Given the description of an element on the screen output the (x, y) to click on. 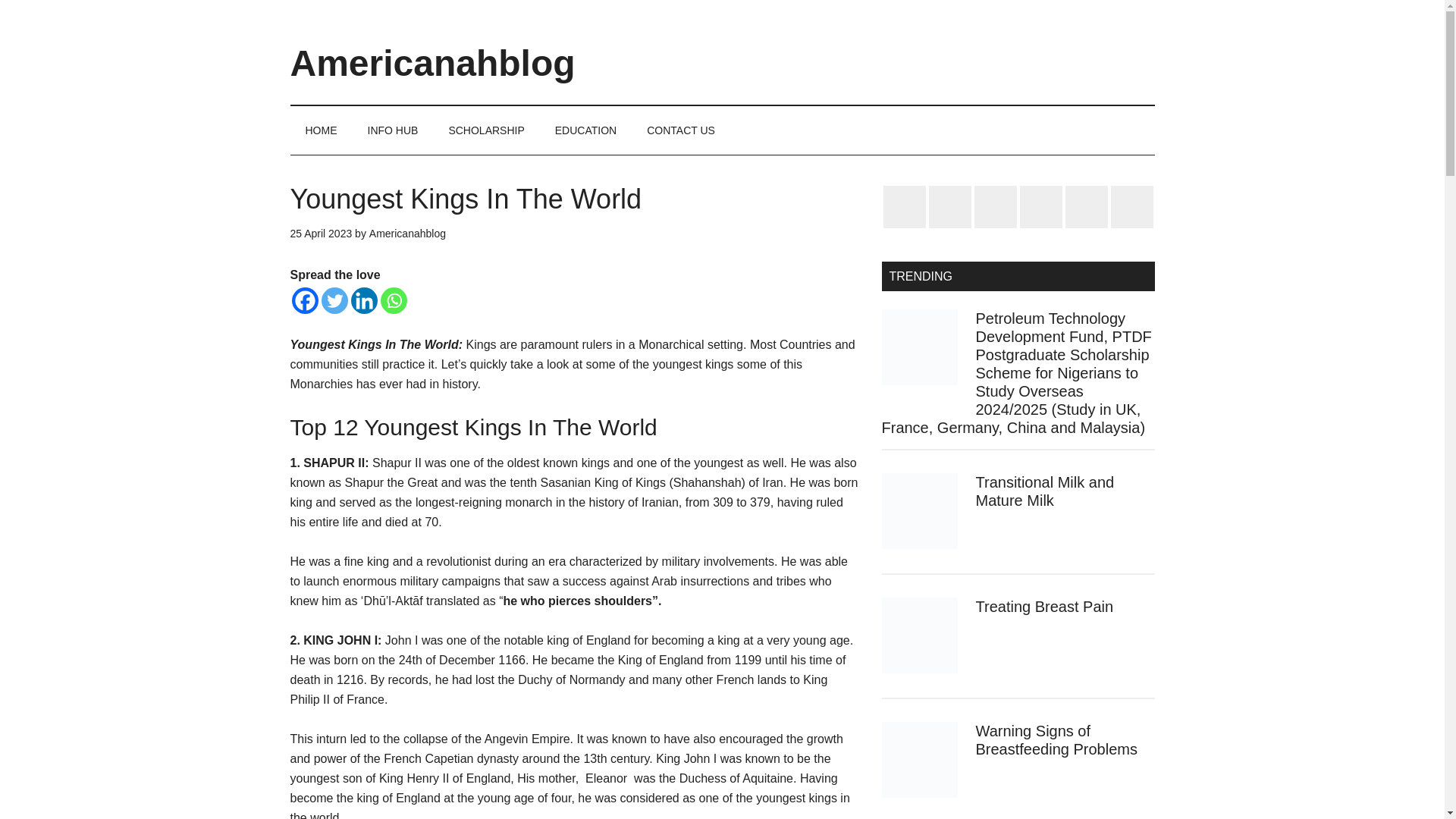
CONTACT US (680, 130)
HOME (320, 130)
Whatsapp (393, 300)
Treating Breast Pain (1044, 606)
Americanahblog (407, 233)
EDUCATION (585, 130)
INFO HUB (392, 130)
Warning Signs of Breastfeeding Problems (1056, 739)
Americanahblog (432, 63)
Twitter (334, 300)
Transitional Milk and Mature Milk (1044, 491)
SCHOLARSHIP (485, 130)
Linkedin (363, 300)
Facebook (304, 300)
